Given the description of an element on the screen output the (x, y) to click on. 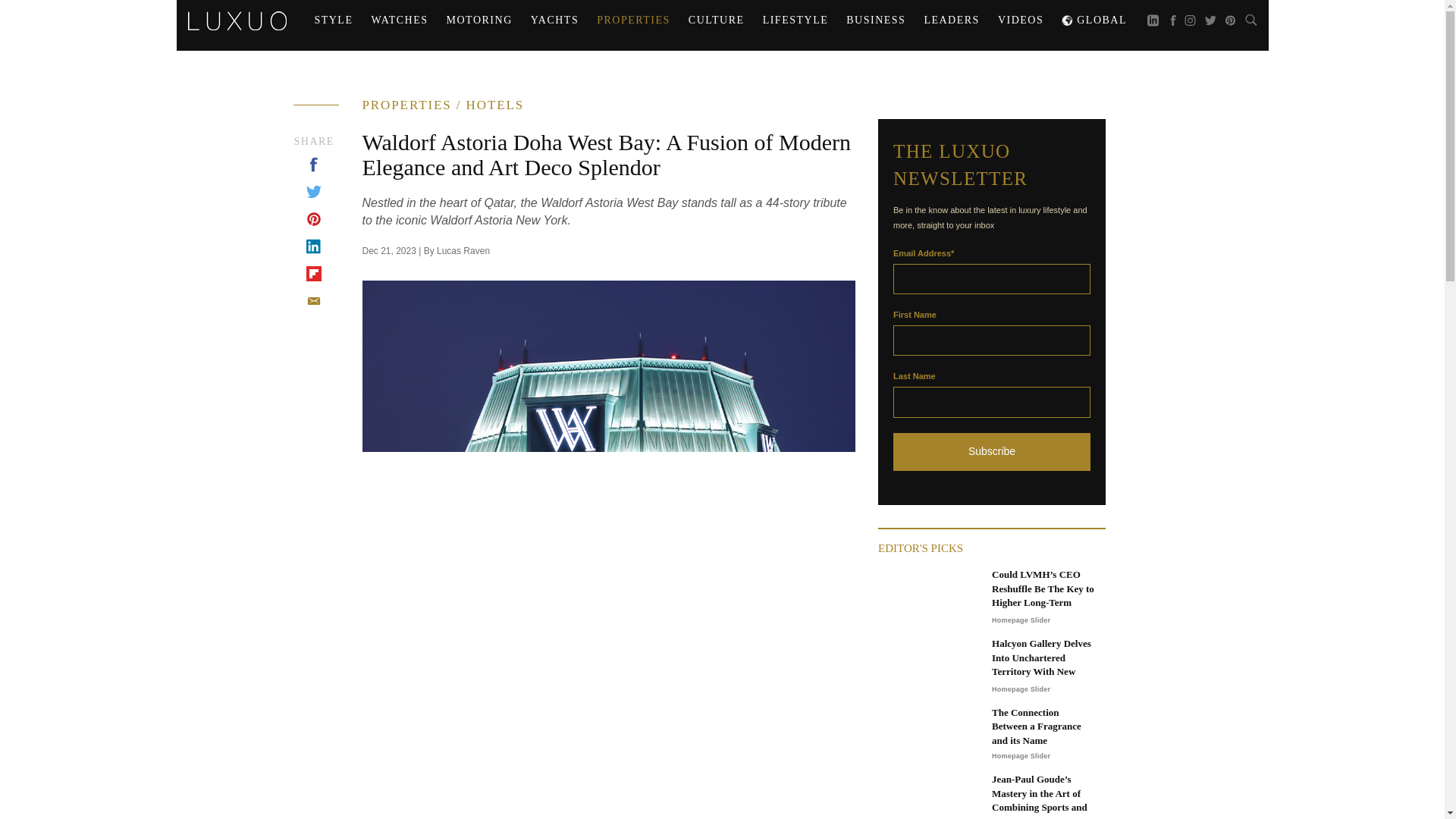
LUXUO - The Luxury Lifestyle Portal (236, 18)
YACHTS (554, 20)
PROPERTIES (633, 20)
LUXUO - The Luxury Lifestyle Portal (236, 20)
WATCHES (398, 20)
STYLE (332, 20)
Subscribe (991, 451)
MOTORING (479, 20)
